Given the description of an element on the screen output the (x, y) to click on. 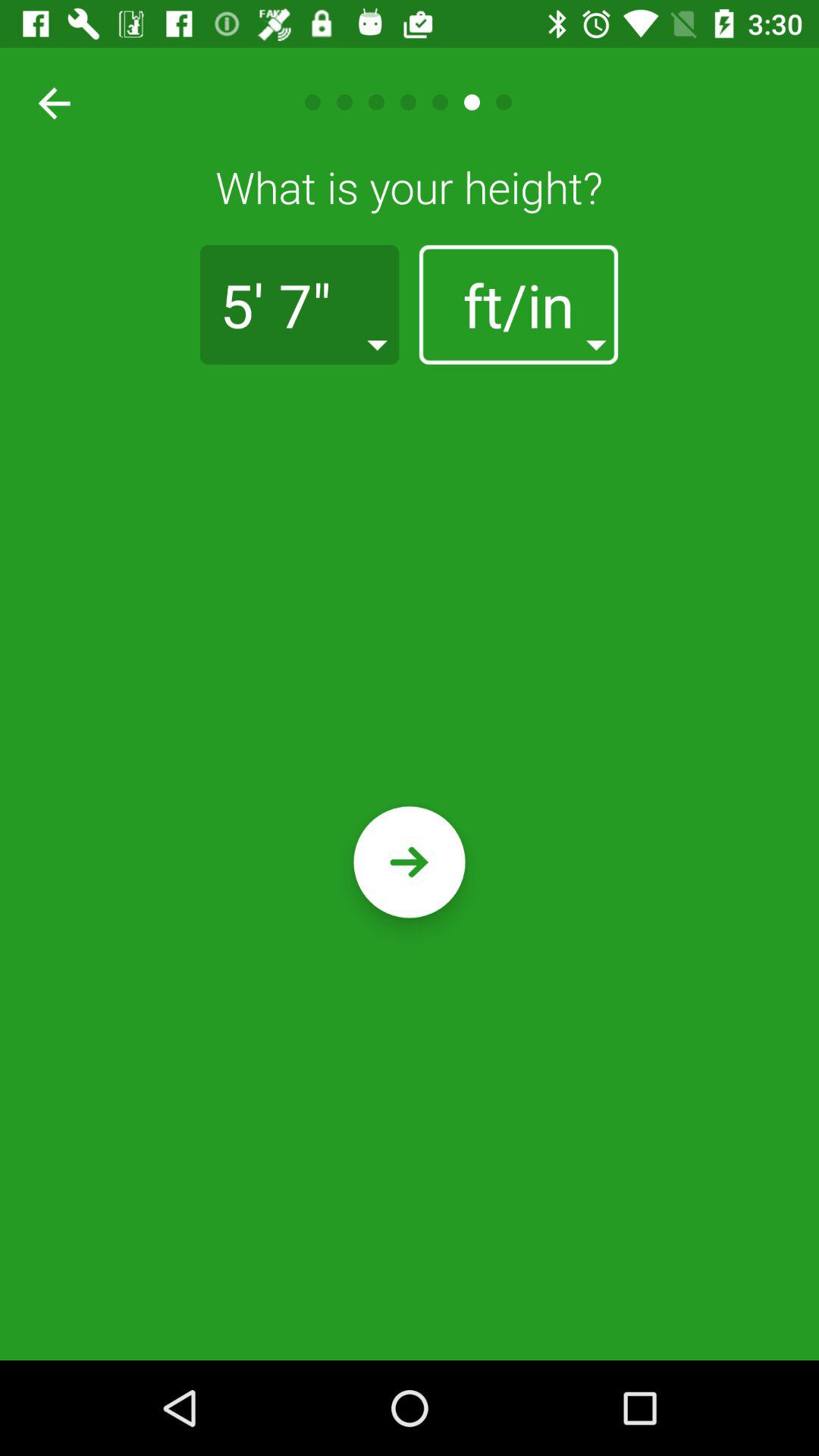
go back (48, 102)
